Given the description of an element on the screen output the (x, y) to click on. 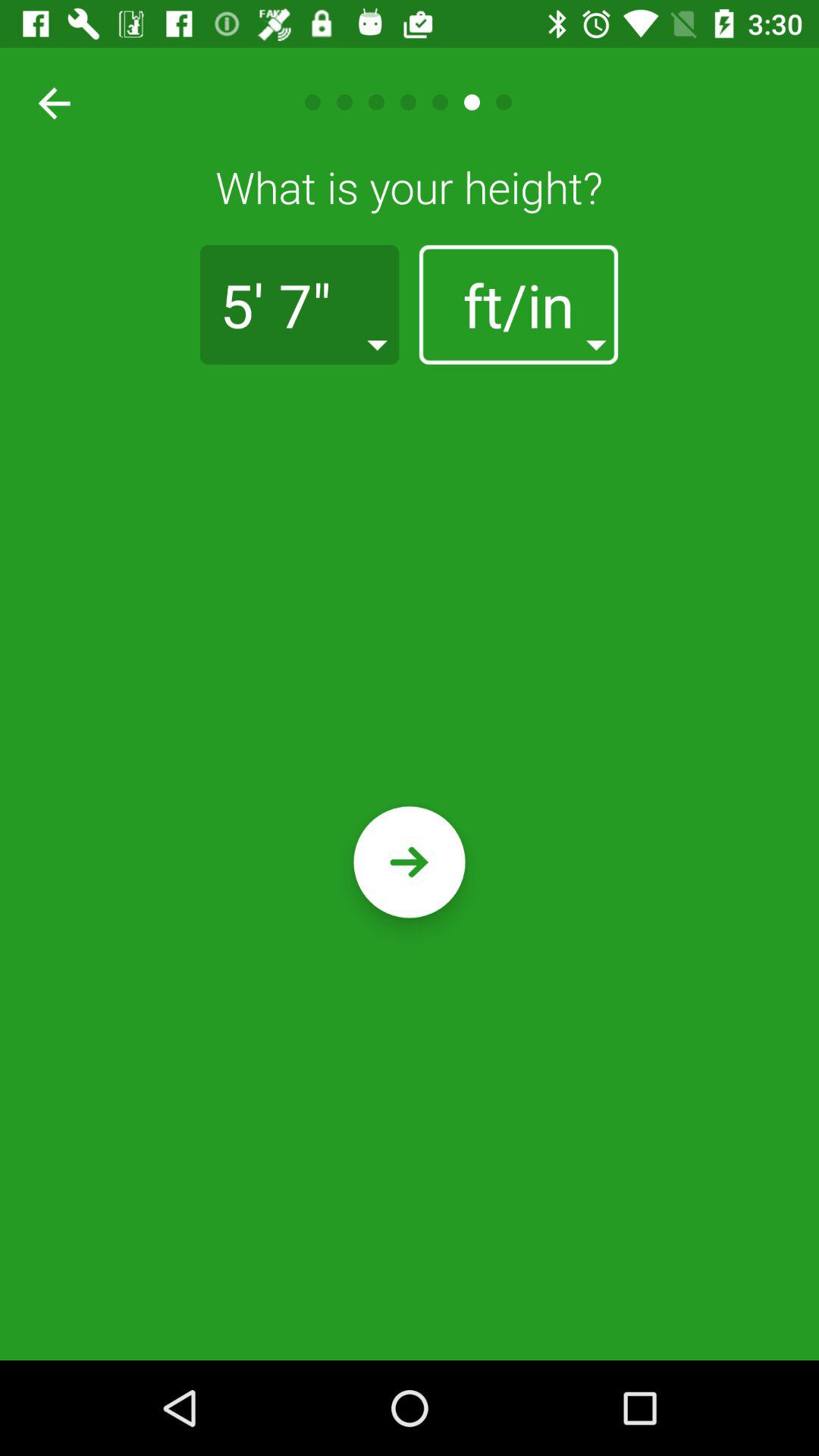
go back (48, 102)
